Given the description of an element on the screen output the (x, y) to click on. 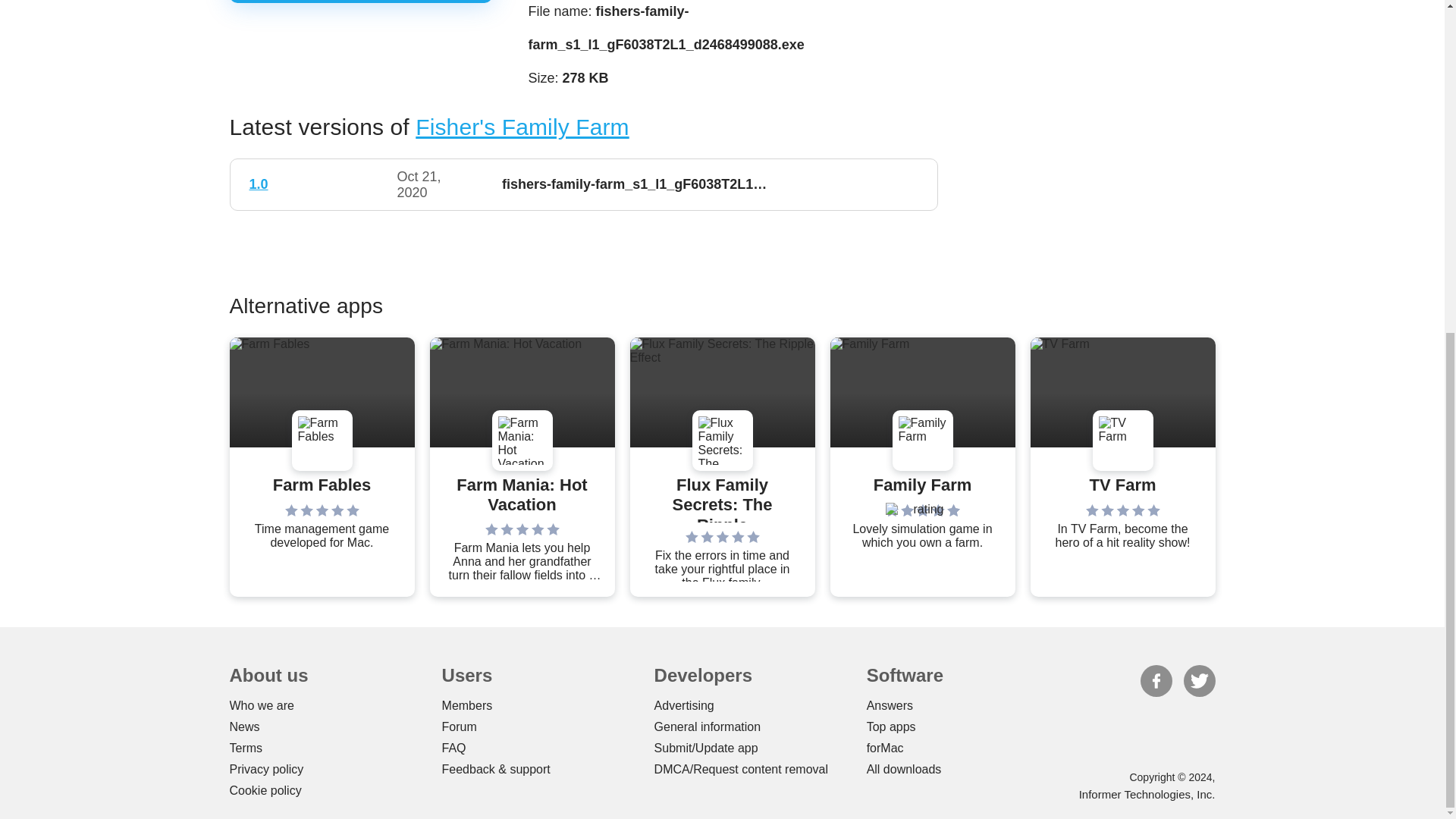
Family Farm (922, 485)
Farm Fables (322, 485)
1.0 (257, 183)
Download Farm Mania: Hot Vacation (521, 495)
Download Flux Family Secrets: The Ripple Effect  (722, 498)
Download Farm Fables (322, 485)
Fisher's Family Farm (521, 126)
Download TV Farm (1122, 485)
Download Family Farm (922, 485)
Flux Family Secrets: The Ripple (722, 498)
Farm Mania: Hot Vacation (521, 495)
TV Farm (1122, 485)
Download now (360, 1)
News (243, 726)
